Given the description of an element on the screen output the (x, y) to click on. 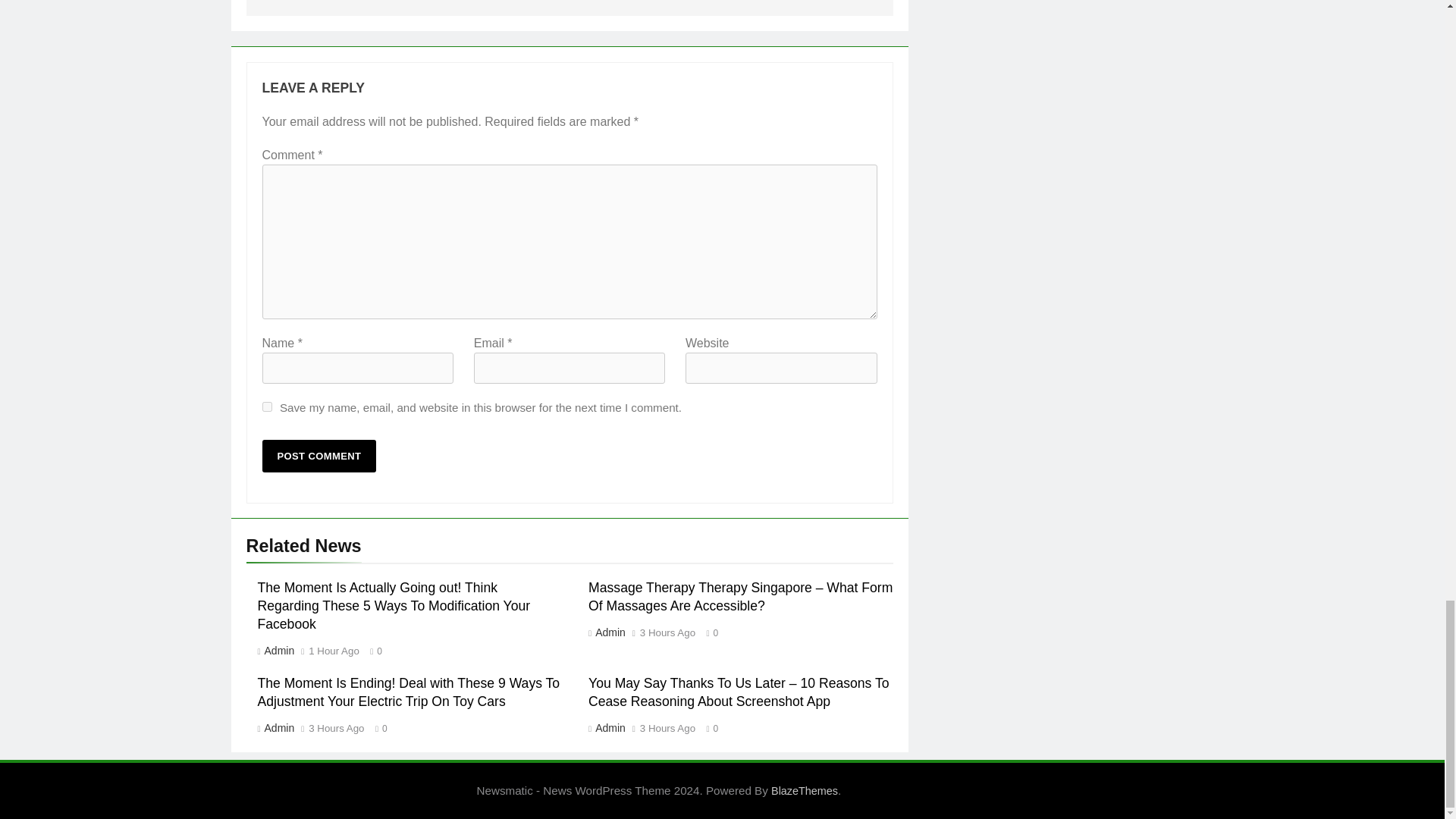
yes (267, 406)
Post Comment (319, 455)
